Given the description of an element on the screen output the (x, y) to click on. 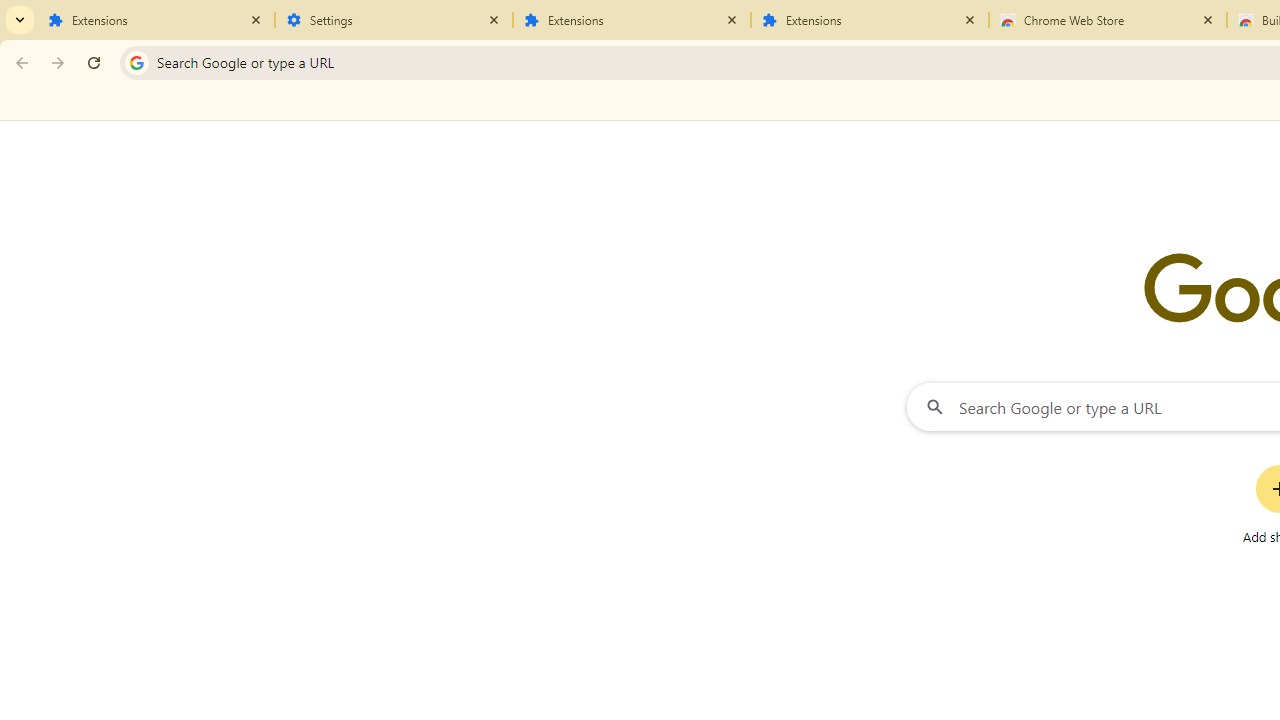
Chrome Web Store (1108, 20)
Extensions (870, 20)
Extensions (156, 20)
Settings (394, 20)
Extensions (632, 20)
